Given the description of an element on the screen output the (x, y) to click on. 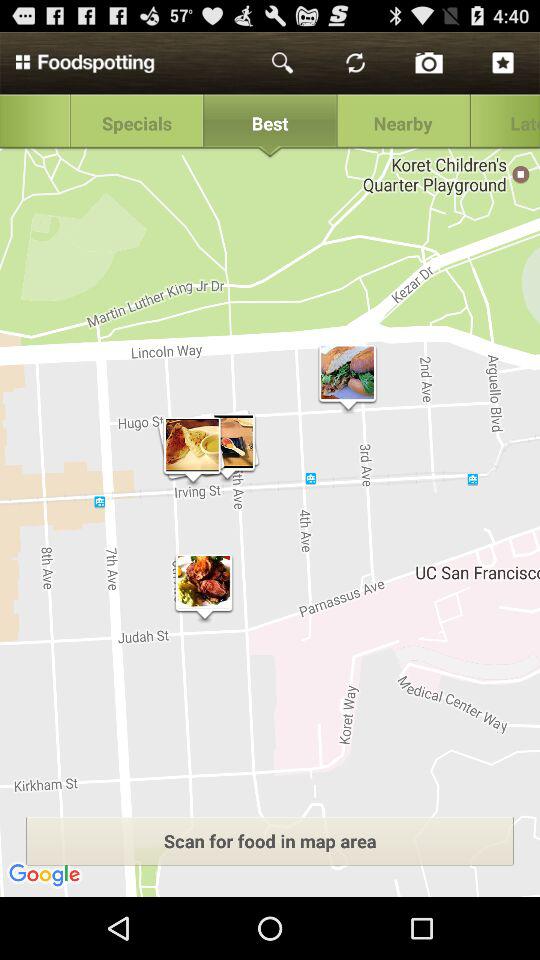
launch scan for food item (269, 840)
